Given the description of an element on the screen output the (x, y) to click on. 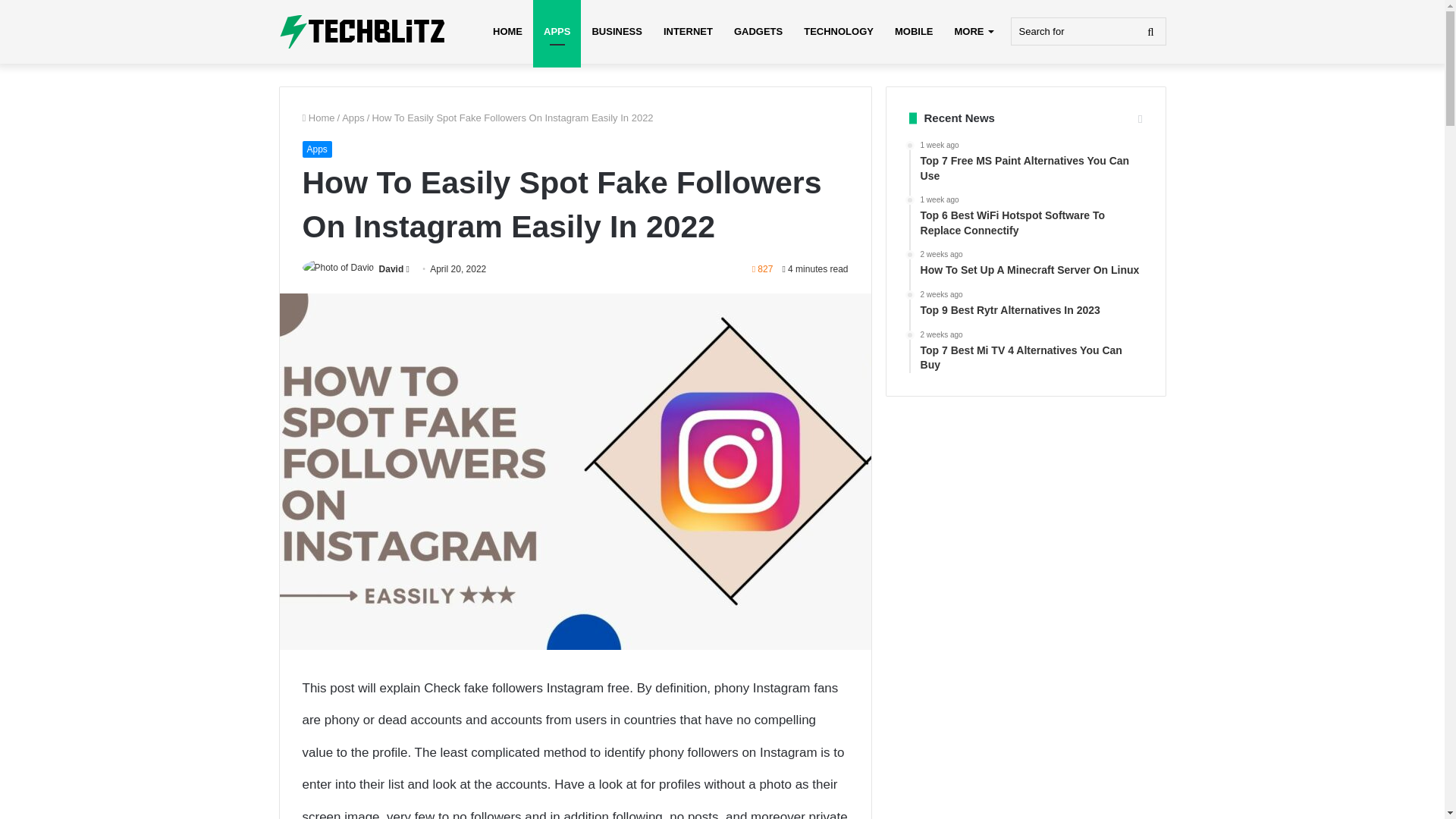
David (391, 268)
MOBILE (913, 31)
TECHNOLOGY (838, 31)
MORE (973, 31)
BUSINESS (616, 31)
Home (317, 117)
TechBlitz (362, 31)
David (391, 268)
GADGETS (758, 31)
INTERNET (687, 31)
